Given the description of an element on the screen output the (x, y) to click on. 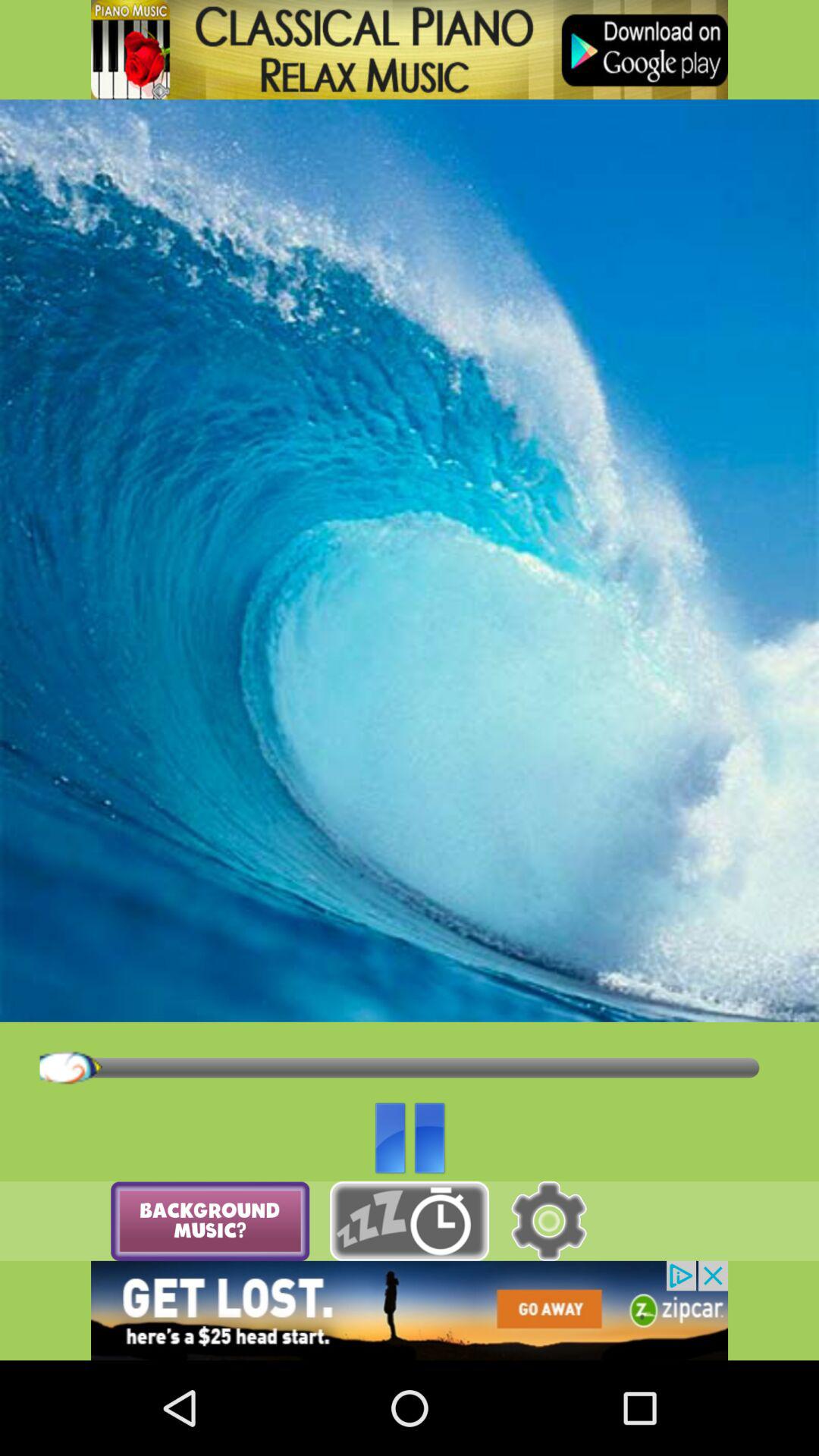
go to sleep timer (409, 1220)
